Given the description of an element on the screen output the (x, y) to click on. 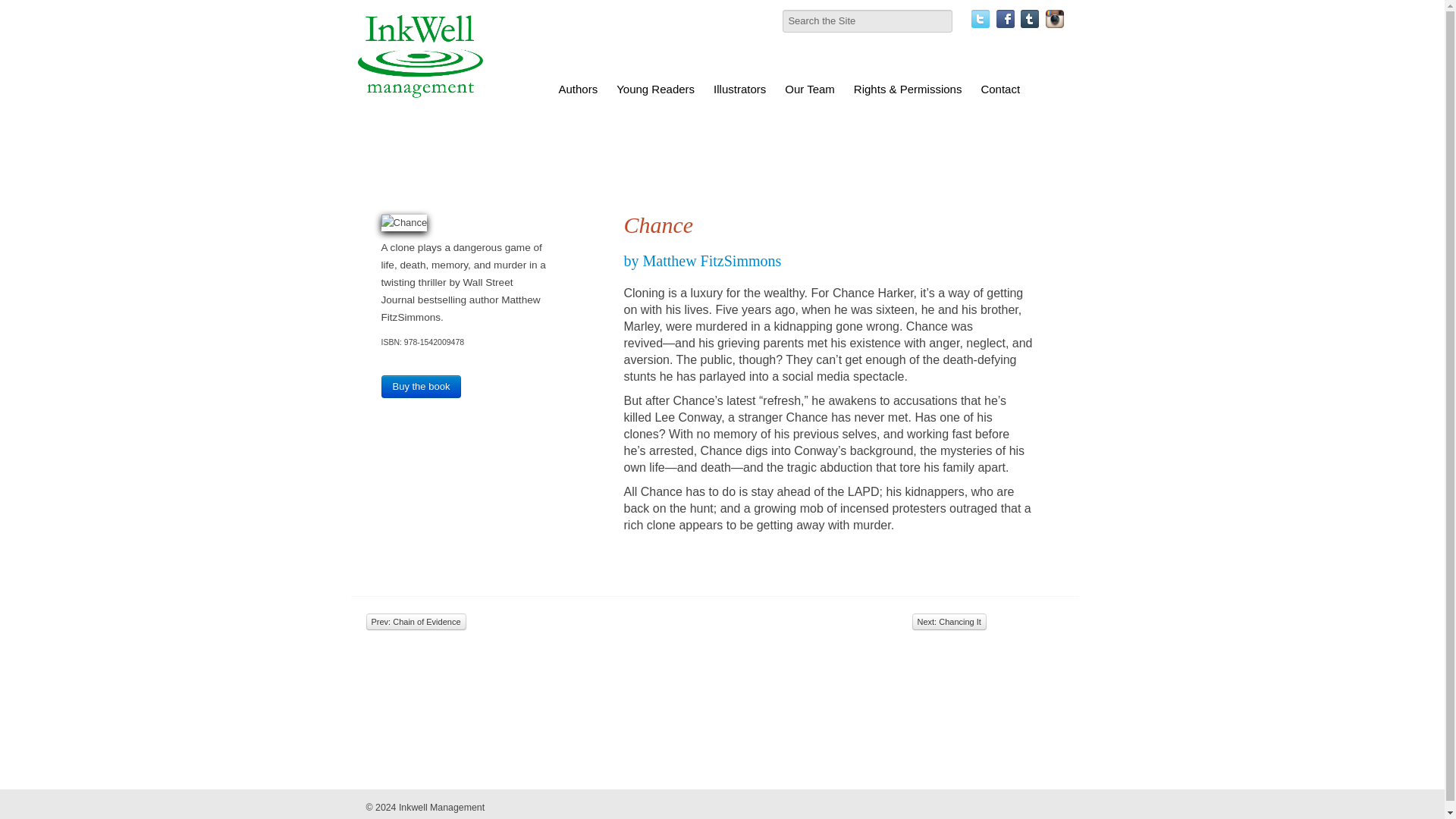
Contact (999, 89)
Illustrators (740, 89)
by Matthew FitzSimmons (701, 260)
Young Readers (655, 89)
Inkwell Management (441, 807)
Our Team (809, 89)
Chance (403, 222)
Prev: Chain of Evidence (415, 621)
Search the Site (867, 20)
Authors (578, 89)
